Given the description of an element on the screen output the (x, y) to click on. 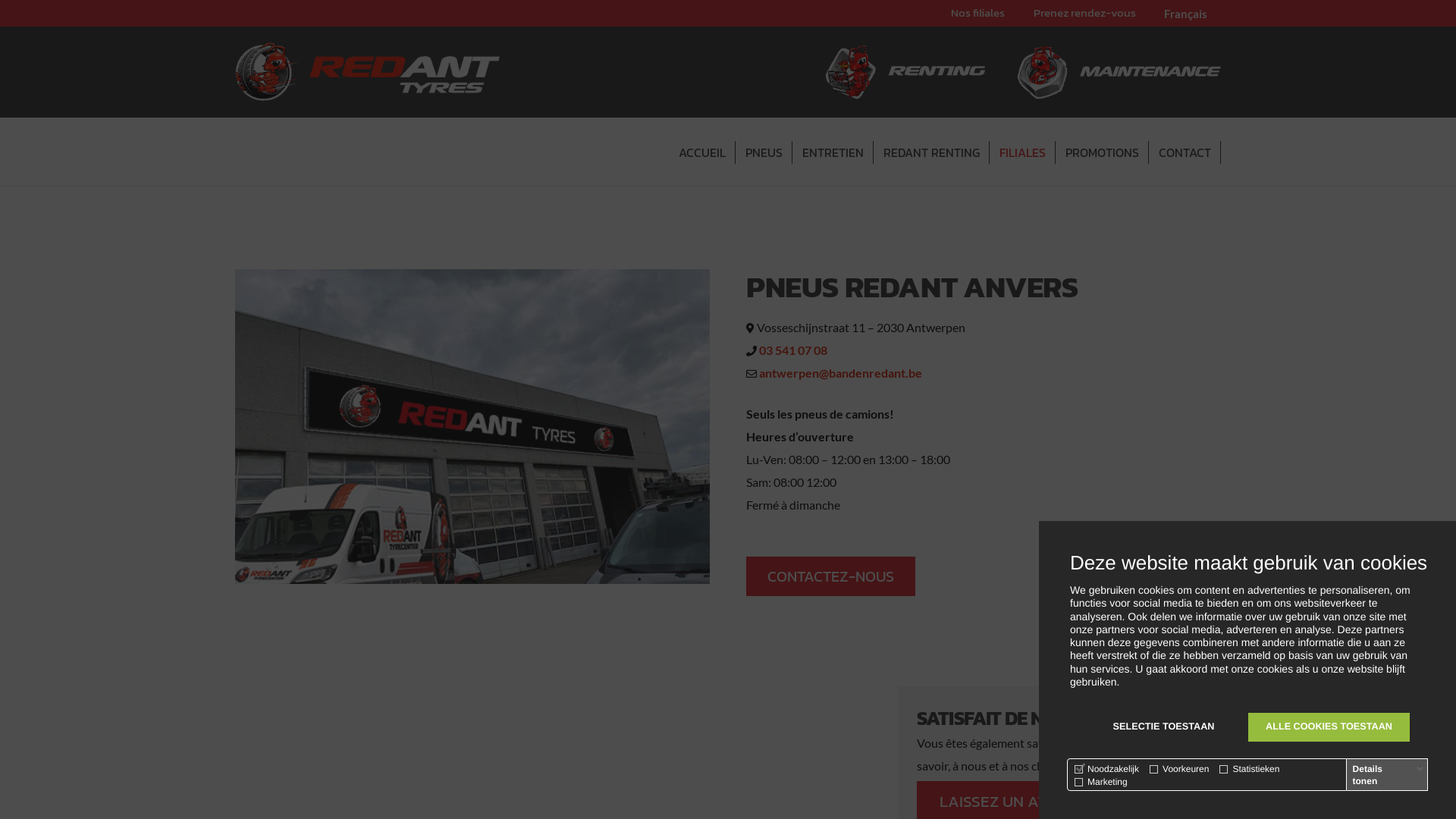
CONTACTEZ-NOUS Element type: text (830, 576)
CONTACT Element type: text (1184, 152)
REDANT RENTING Element type: text (930, 152)
PNEUS Element type: text (763, 152)
Prenez rendez-vous Element type: text (1084, 12)
ALLE COOKIES TOESTAAN Element type: text (1328, 726)
PROMOTIONS Element type: text (1101, 152)
antwerpen@bandenredant.be Element type: text (840, 372)
03 541 07 08 Element type: text (793, 349)
SELECTIE TOESTAAN Element type: text (1163, 726)
Details tonen Element type: text (1388, 774)
ACCUEIL Element type: text (701, 152)
Nos filiales Element type: text (977, 12)
FILIALES Element type: text (1021, 152)
ENTRETIEN Element type: text (832, 152)
